Given the description of an element on the screen output the (x, y) to click on. 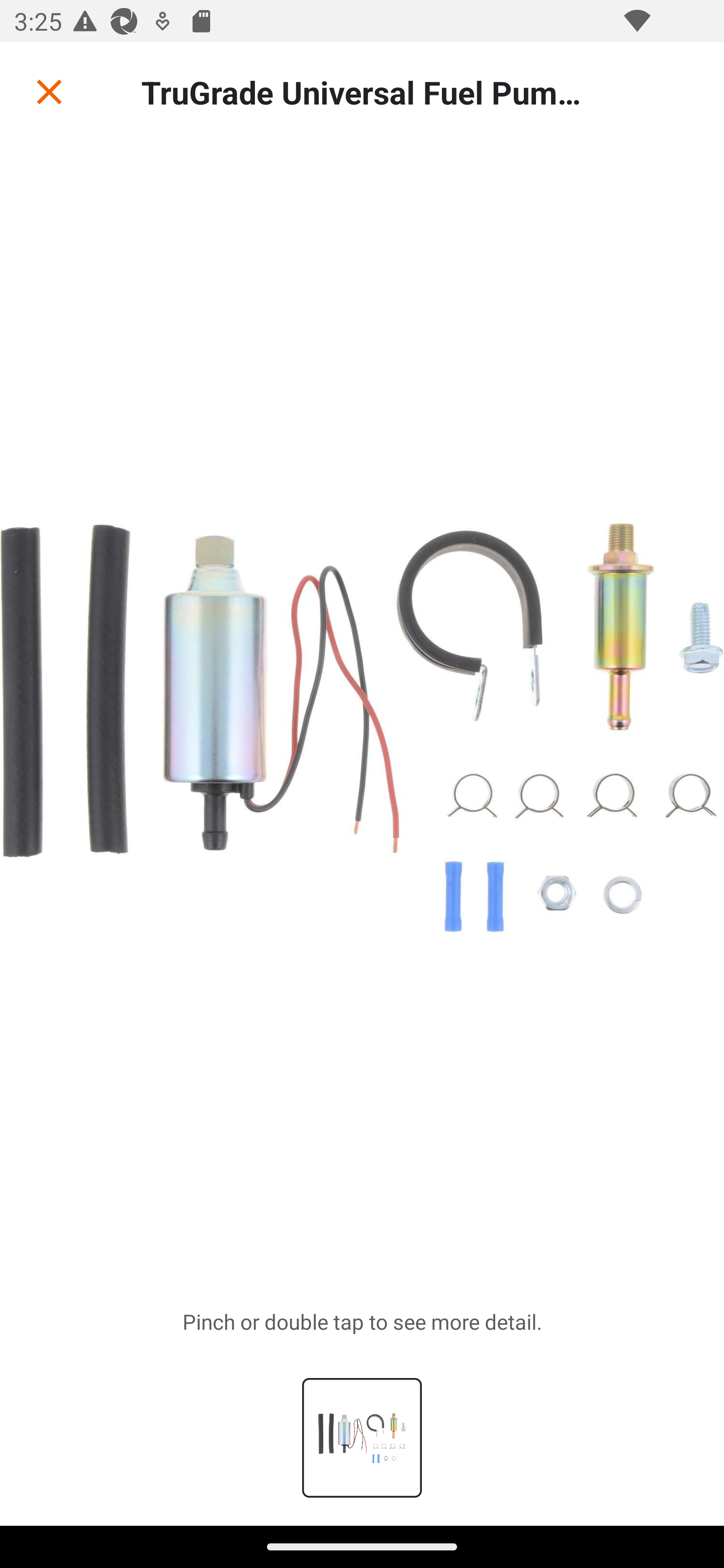
Go back  (49, 91)
